Given the description of an element on the screen output the (x, y) to click on. 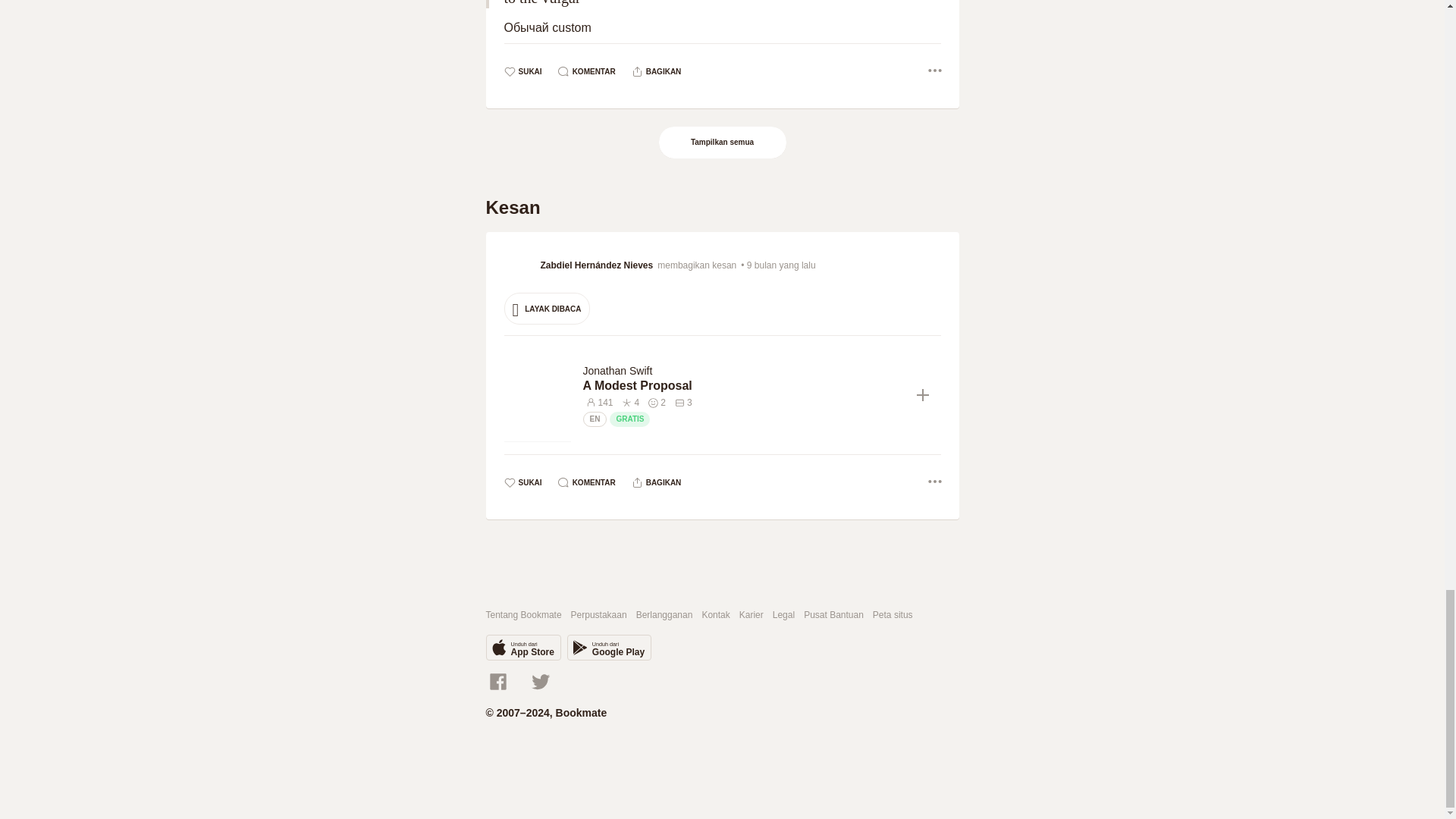
Tentang Bookmate (522, 614)
Perpustakaan (598, 614)
Tampilkan semua (722, 142)
A Modest Proposal (743, 385)
Tampilkan semua (722, 142)
